Given the description of an element on the screen output the (x, y) to click on. 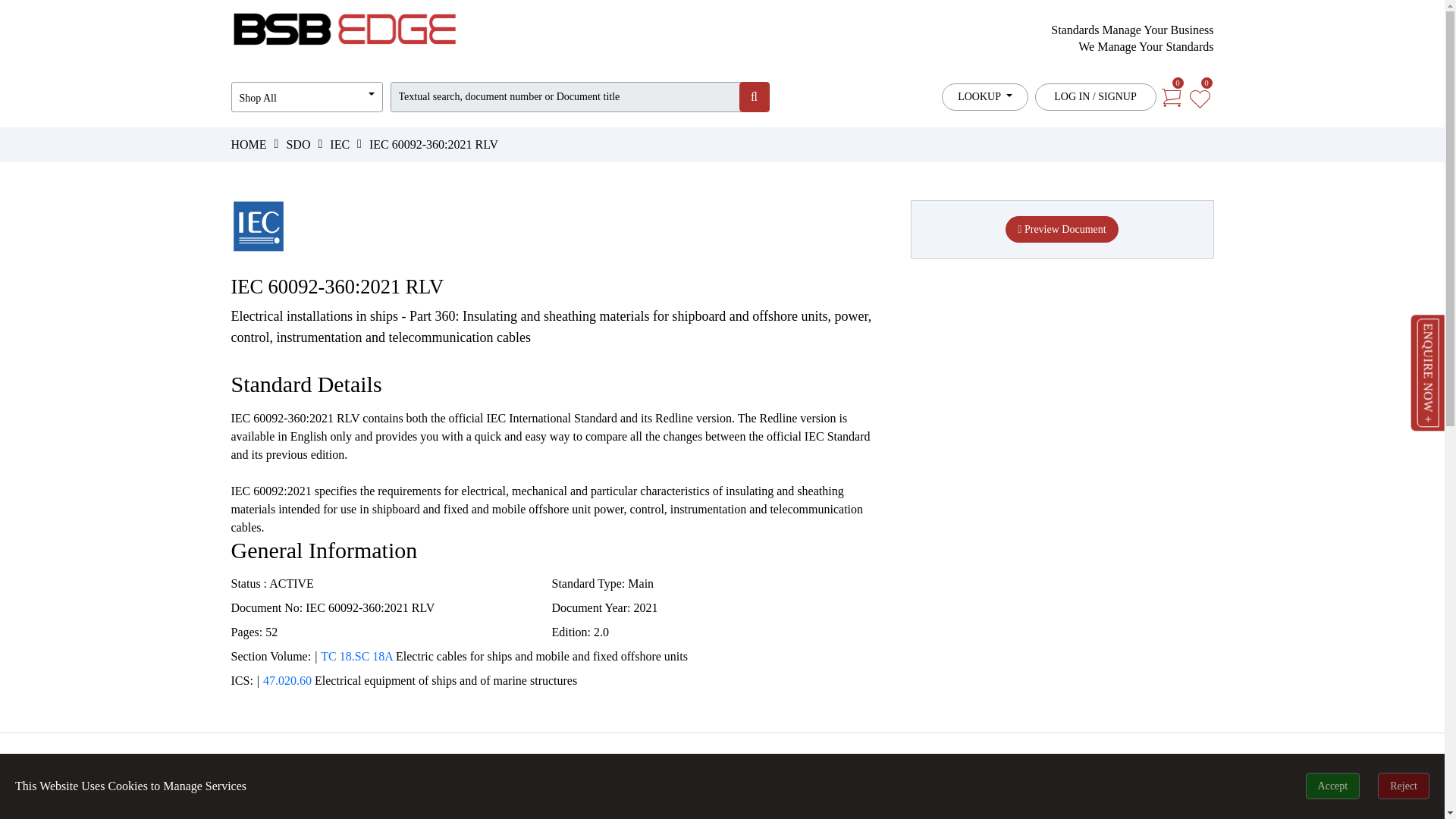
0 (1170, 95)
Shop All (305, 96)
SDO (297, 144)
0 (1198, 96)
47.020.60 (287, 680)
IEC (339, 144)
Preview Document (1062, 229)
HOME (248, 144)
TC 18.SC 18A (356, 656)
LOOKUP (984, 96)
search (753, 96)
